Given the description of an element on the screen output the (x, y) to click on. 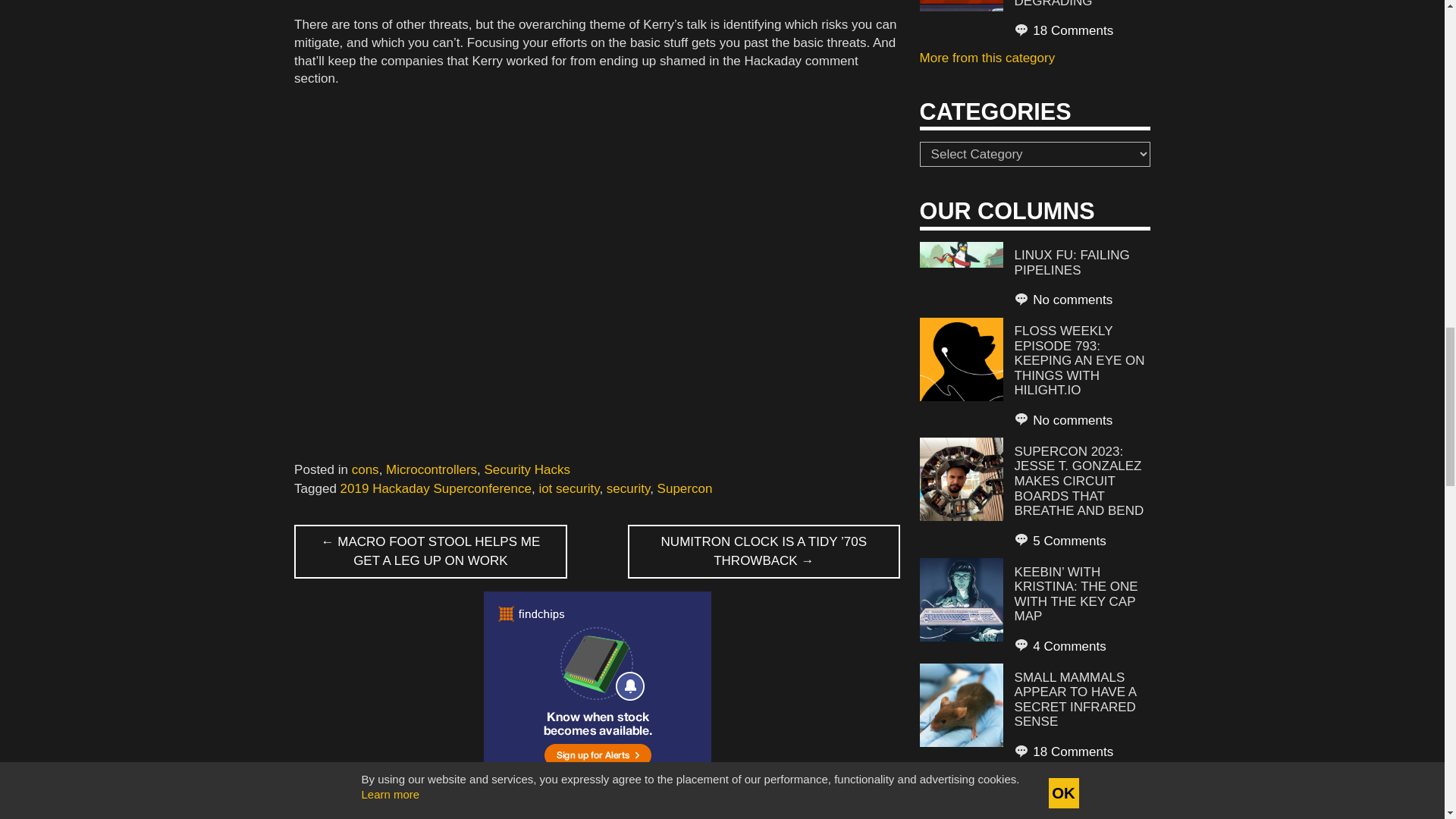
Supercon (685, 488)
2019 Hackaday Superconference (435, 488)
cons (365, 469)
iot security (568, 488)
Security Hacks (527, 469)
security (628, 488)
Microcontrollers (431, 469)
